Given the description of an element on the screen output the (x, y) to click on. 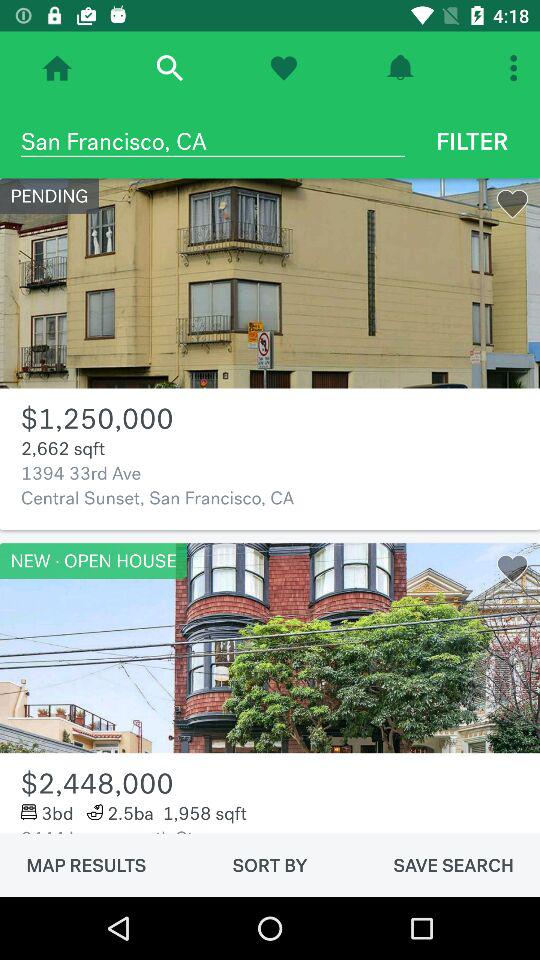
choose map results item (85, 865)
